Given the description of an element on the screen output the (x, y) to click on. 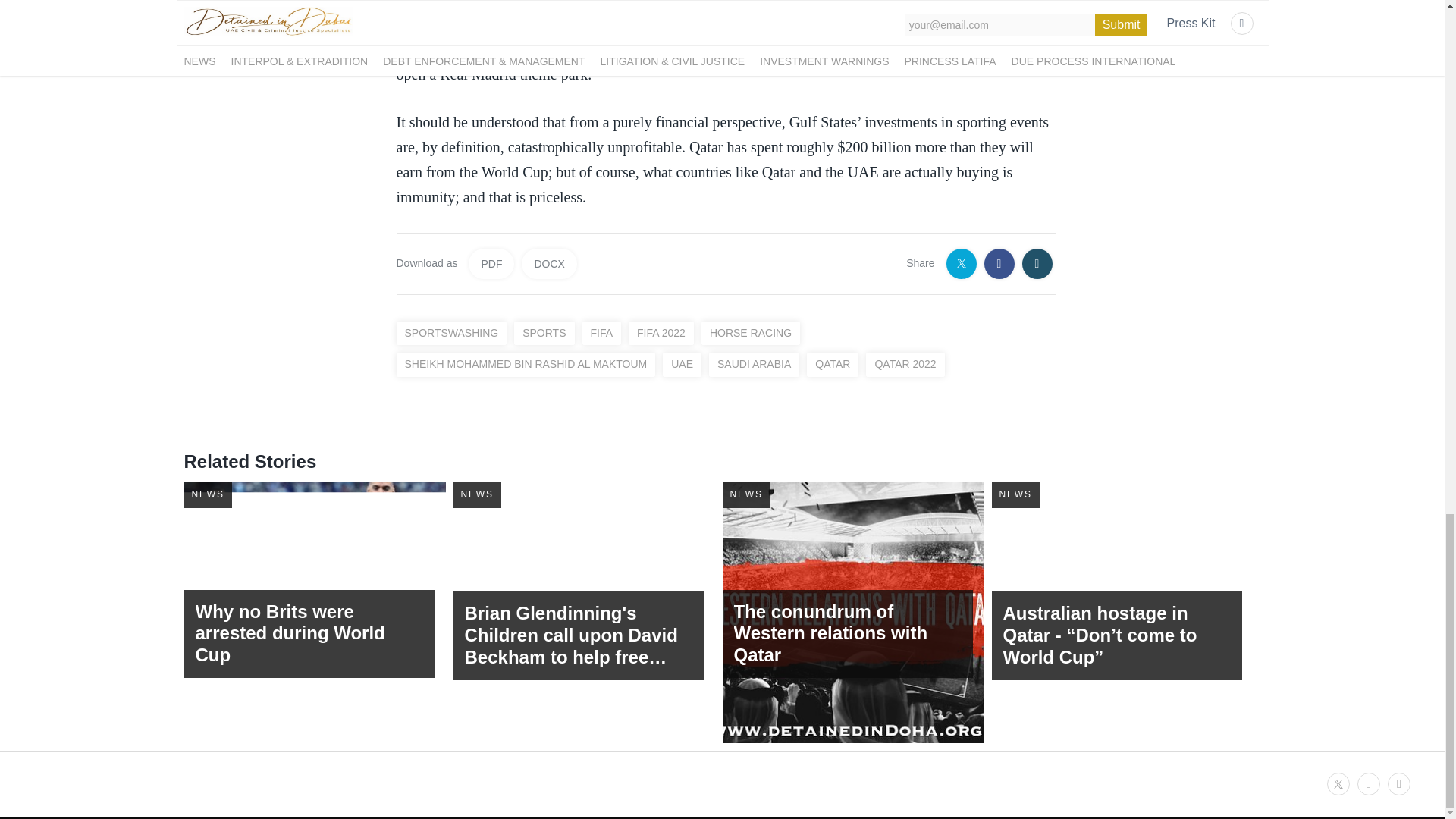
DOCX (548, 263)
PDF (490, 263)
